Given the description of an element on the screen output the (x, y) to click on. 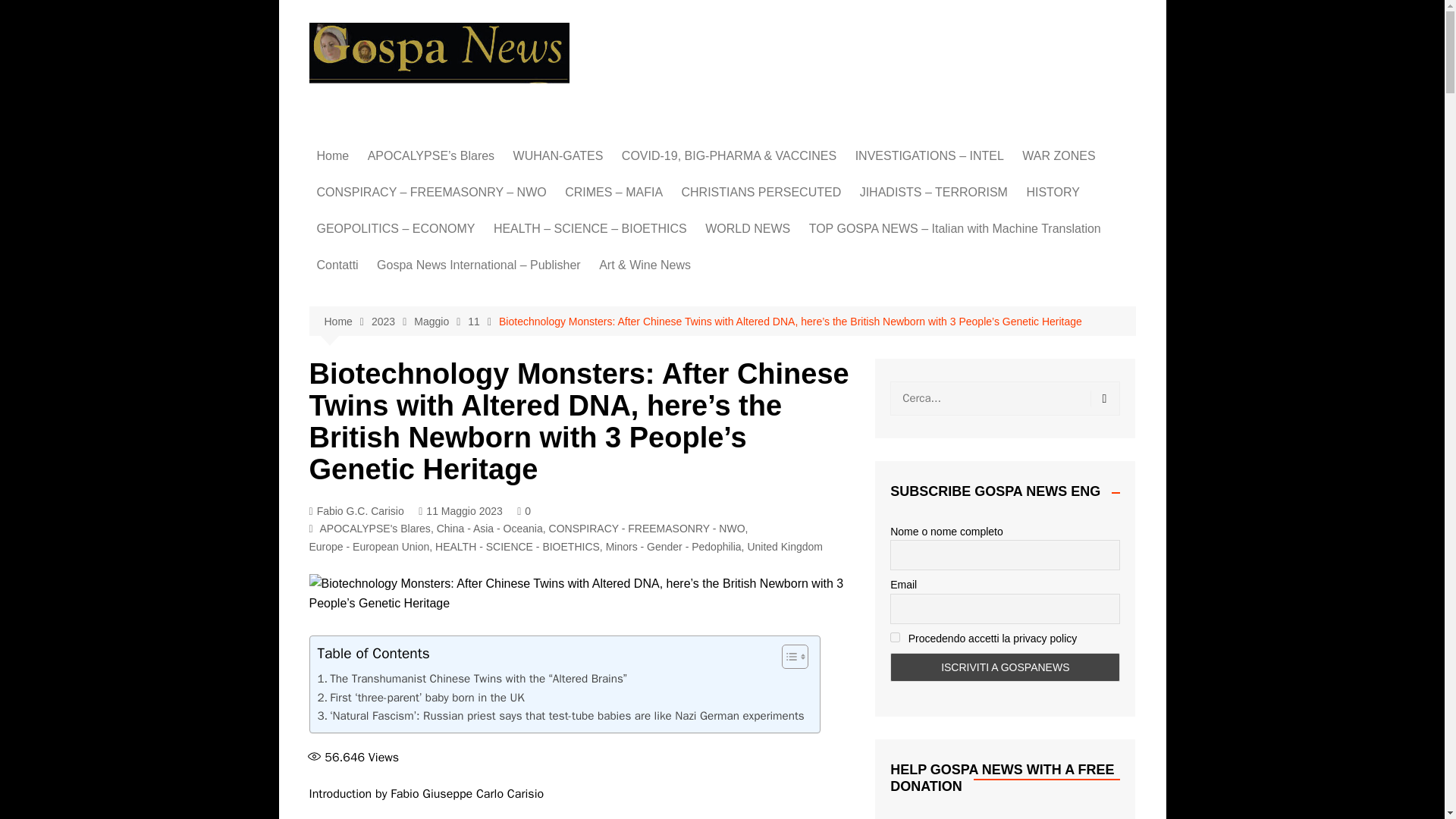
Italy (780, 359)
HISTORY (1052, 192)
WORLD NEWS (747, 228)
ISCRIVITI A GOSPANEWS (1004, 666)
Africa (780, 259)
Christian religion (569, 322)
Palestine (1097, 236)
Libya (1097, 186)
Digital Dictatorship (930, 211)
Home (332, 156)
